Given the description of an element on the screen output the (x, y) to click on. 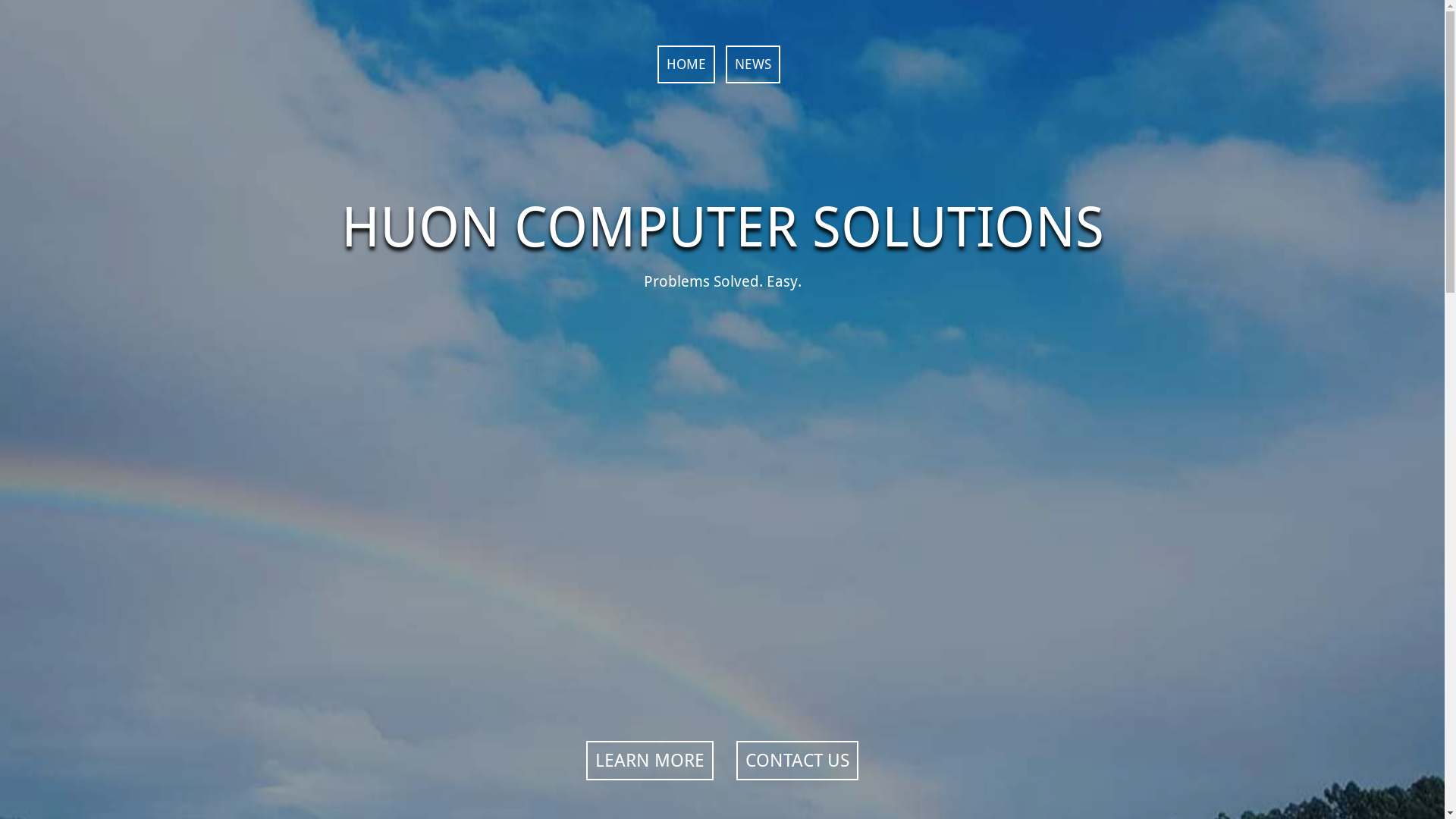
HUON COMPUTER SOLUTIONS Element type: text (722, 227)
HOME Element type: text (685, 64)
NEWS Element type: text (752, 64)
LEARN MORE Element type: text (649, 760)
CONTACT US Element type: text (797, 760)
